Given the description of an element on the screen output the (x, y) to click on. 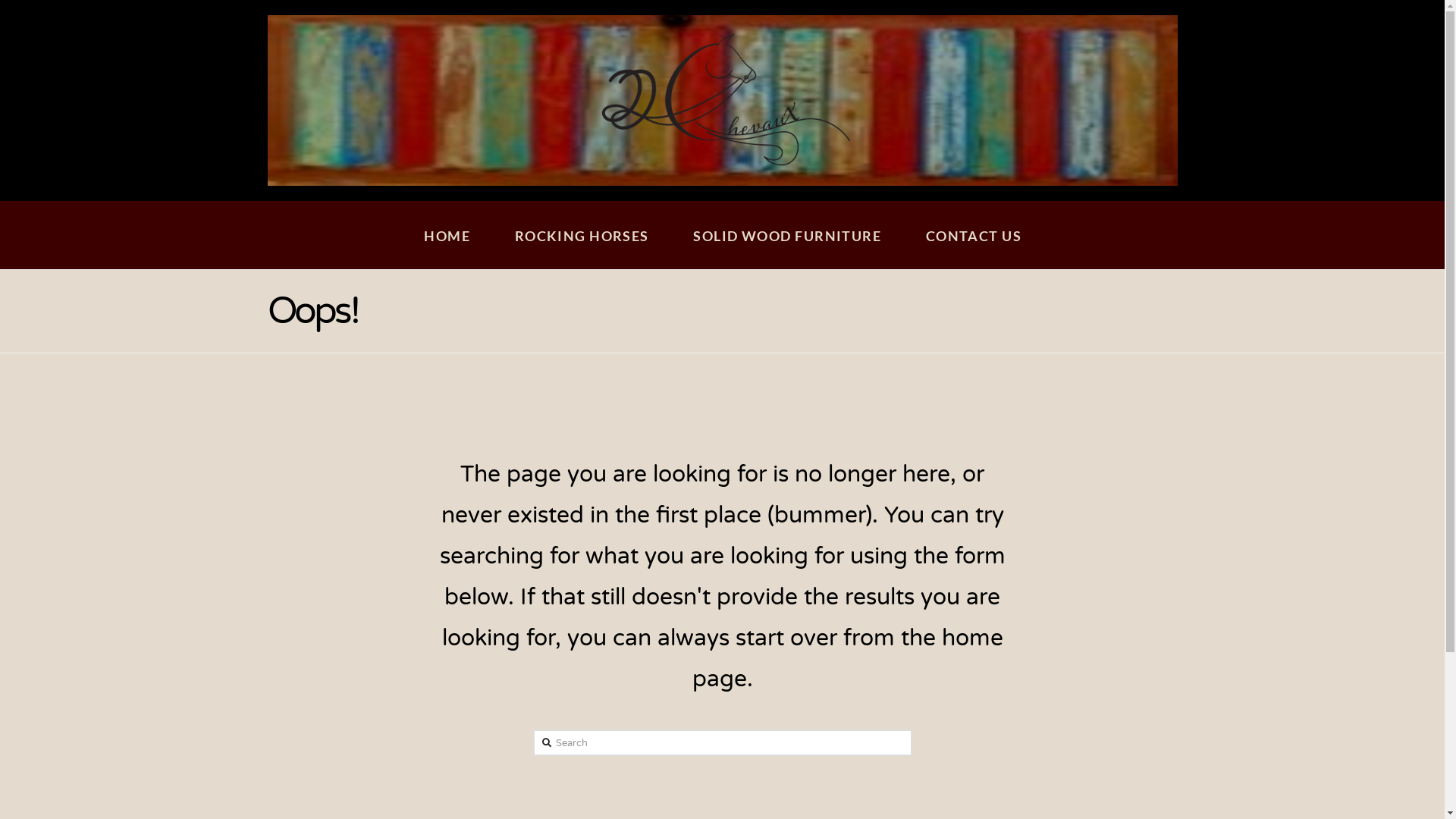
ROCKING HORSES Element type: text (581, 234)
SOLID WOOD FURNITURE Element type: text (786, 234)
CONTACT US Element type: text (973, 234)
HOME Element type: text (446, 234)
